Given the description of an element on the screen output the (x, y) to click on. 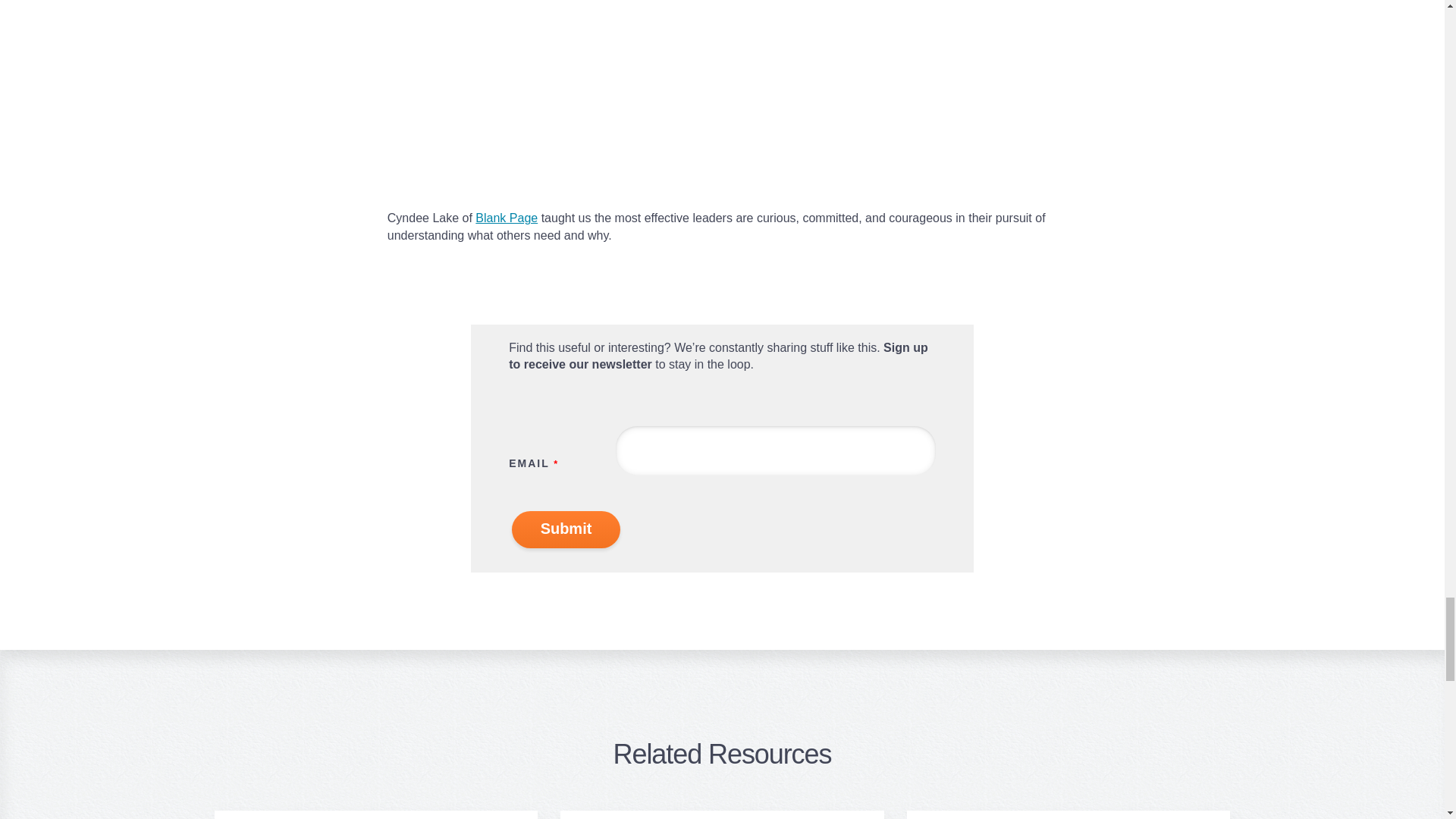
Email (775, 450)
Submit (566, 529)
